Given the description of an element on the screen output the (x, y) to click on. 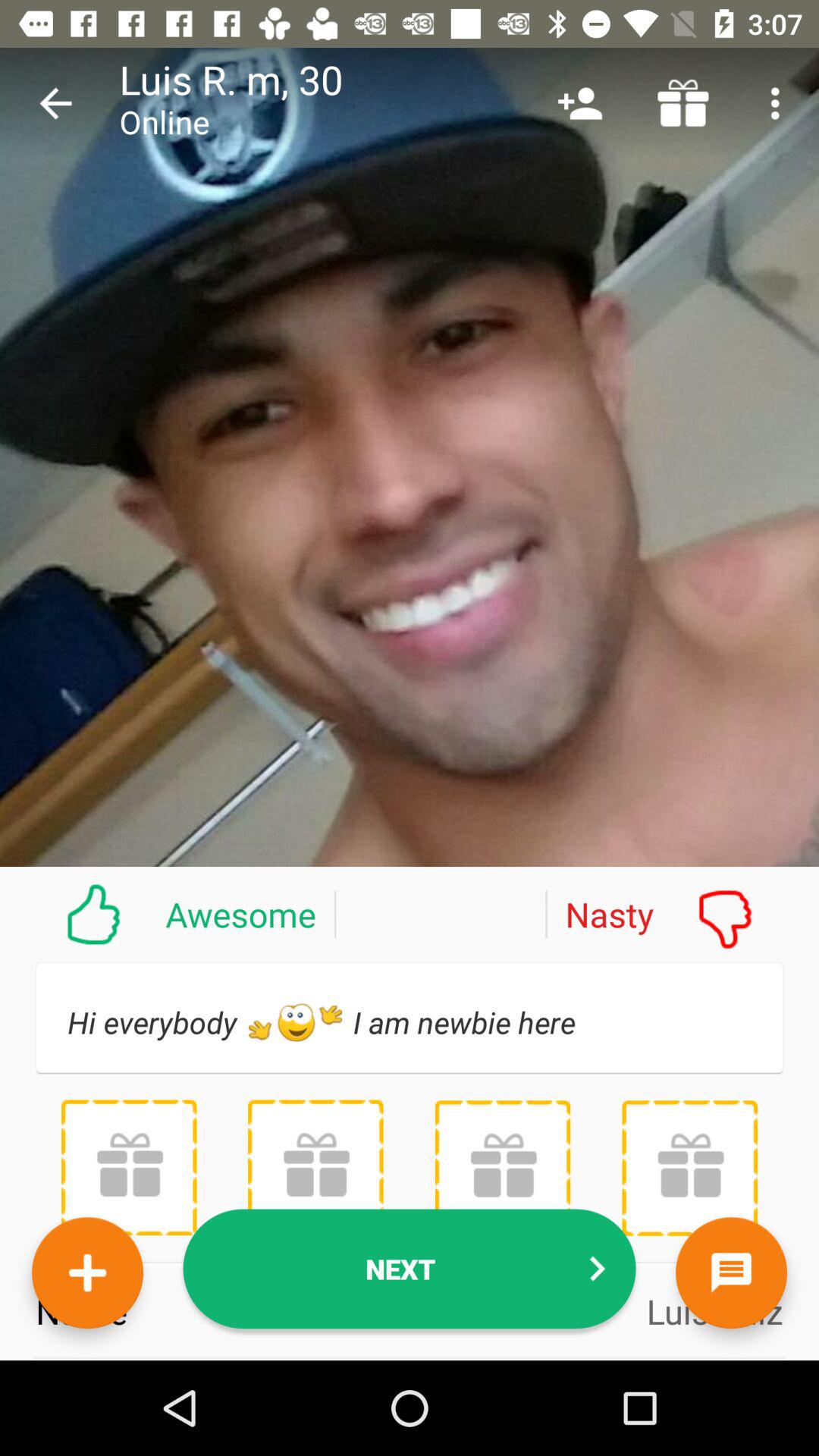
chat button (731, 1272)
